Given the description of an element on the screen output the (x, y) to click on. 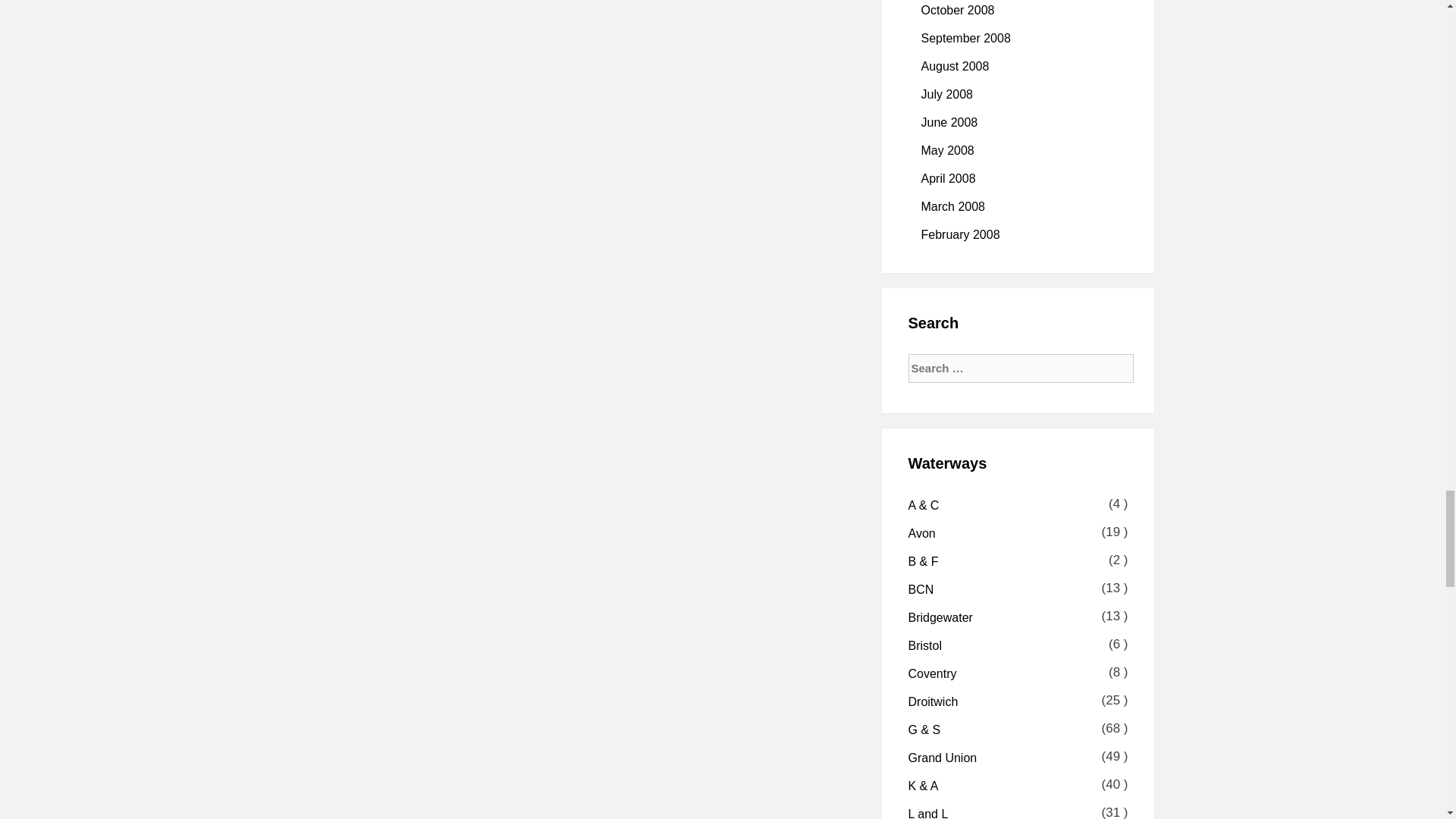
The Kennet and Avon Canal (923, 785)
The Grand Union Canal (942, 757)
Bristol Docks (925, 645)
The Warwickshire Avon (922, 533)
Cruising on the Birmingham Canal Navigations (921, 589)
